Given the description of an element on the screen output the (x, y) to click on. 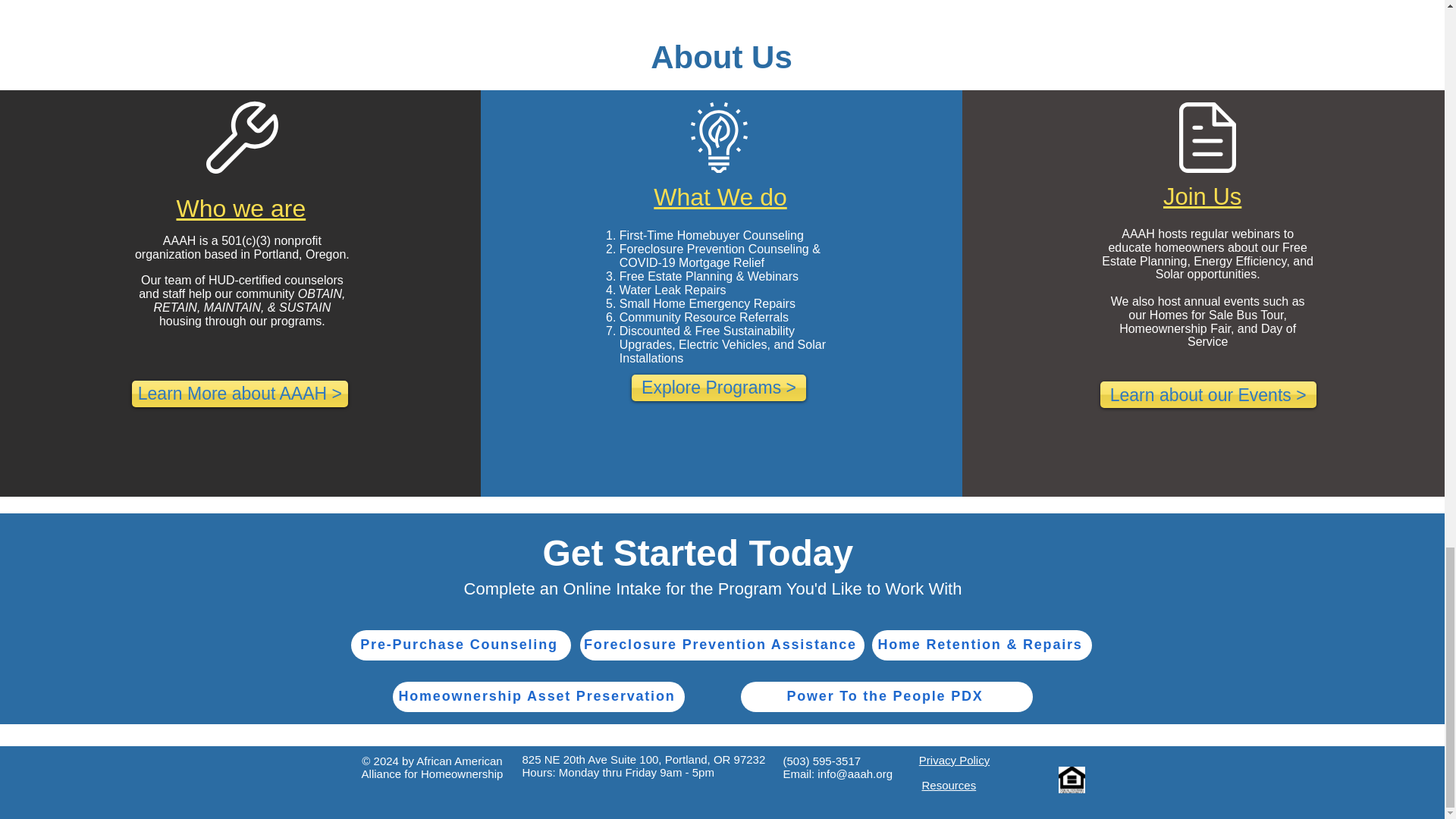
Who we are (240, 207)
Homeownership Asset Preservation (538, 696)
Power To the People PDX (885, 696)
Pre-Purchase Counseling (460, 644)
Foreclosure Prevention Assistance (721, 644)
What We do (719, 196)
